Given the description of an element on the screen output the (x, y) to click on. 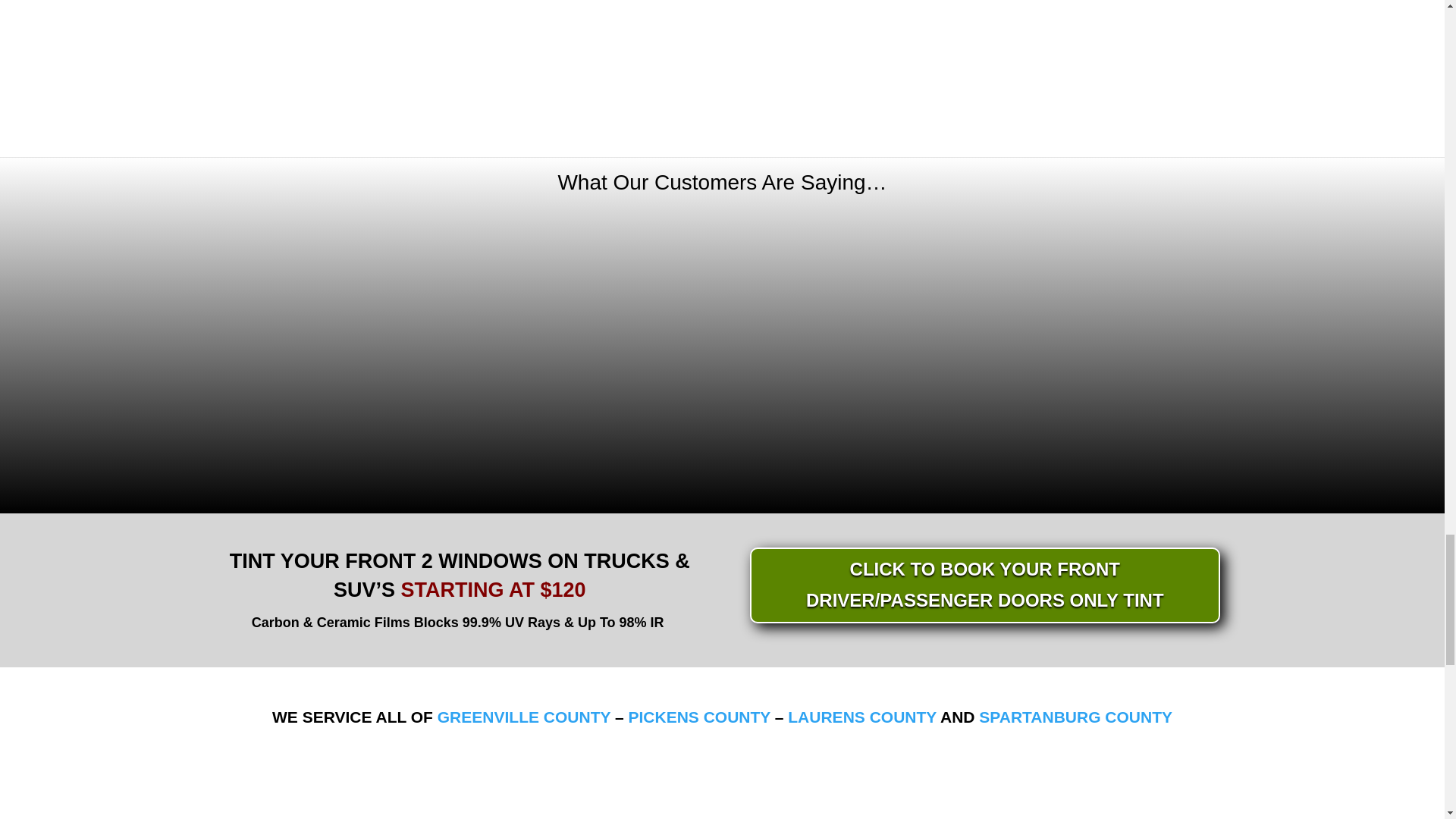
Lexus of Greenville SC (721, 55)
BMW Mini German Motors Collision Center (1072, 58)
